Given the description of an element on the screen output the (x, y) to click on. 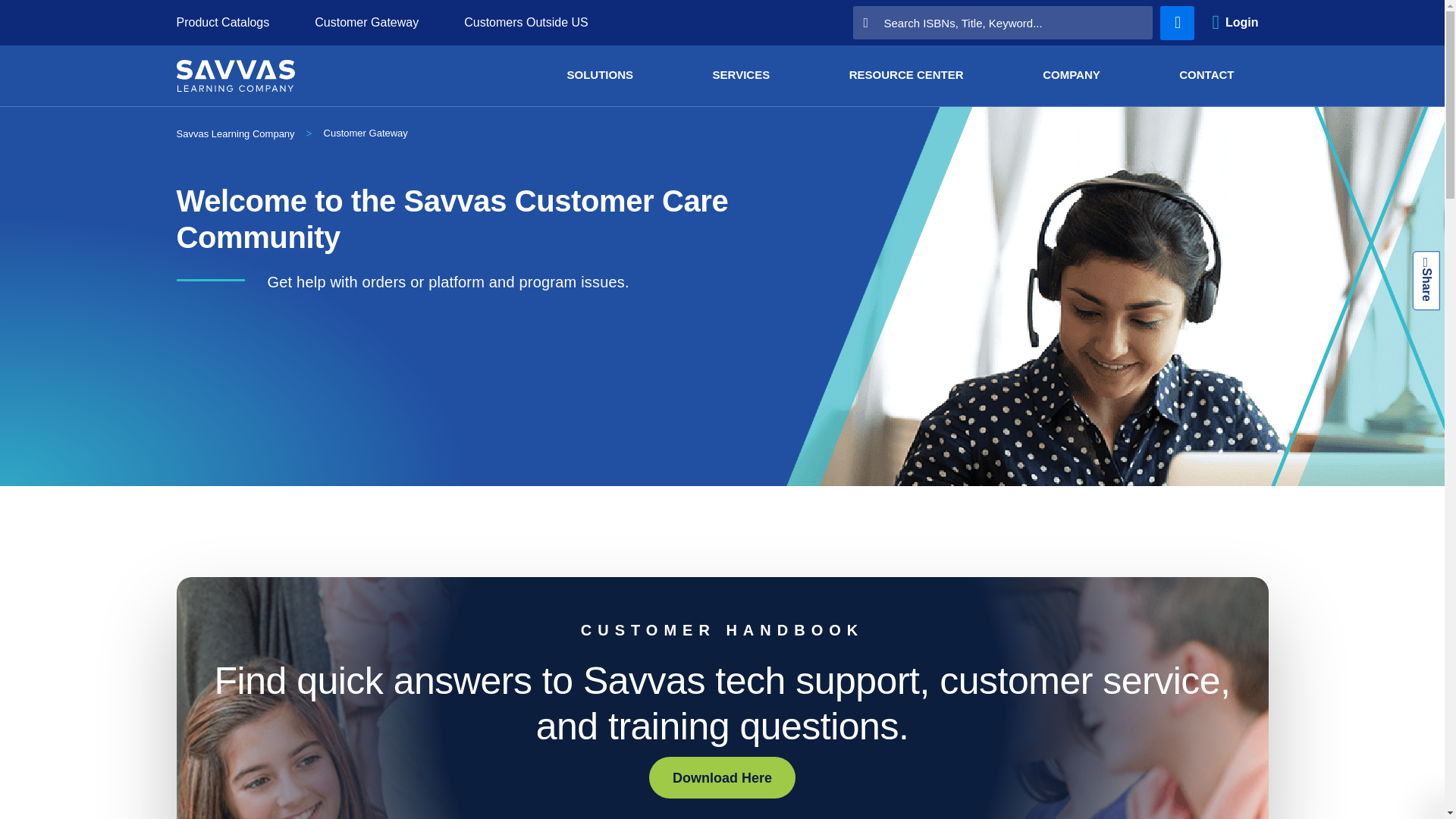
Product Catalogs (222, 21)
Login (1235, 22)
Customers Outside US (526, 21)
Customer Gateway (366, 21)
Cart (1176, 22)
Home (235, 133)
Customer Gateway (366, 21)
Customers Outside US (526, 21)
Product Catalogs (222, 21)
Customer Gateway (365, 132)
Download Here (721, 777)
